Given the description of an element on the screen output the (x, y) to click on. 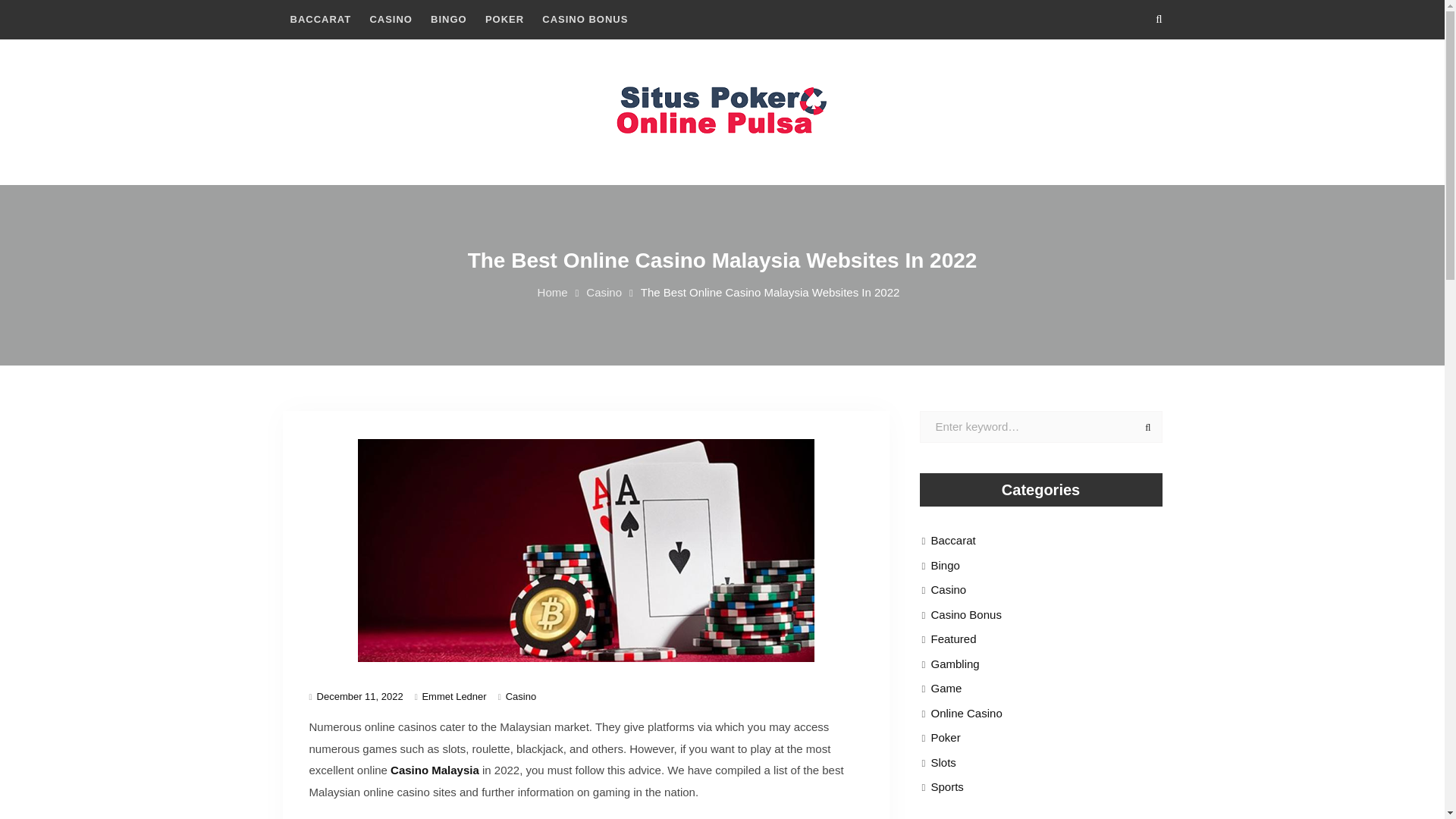
Search for: (1039, 427)
Casino (603, 291)
BINGO (448, 20)
POKER (504, 20)
Casino Malaysia (434, 769)
Gambling (955, 664)
Casino Bonus (966, 614)
CASINO (390, 20)
Baccarat (953, 540)
Bingo (945, 565)
